Given the description of an element on the screen output the (x, y) to click on. 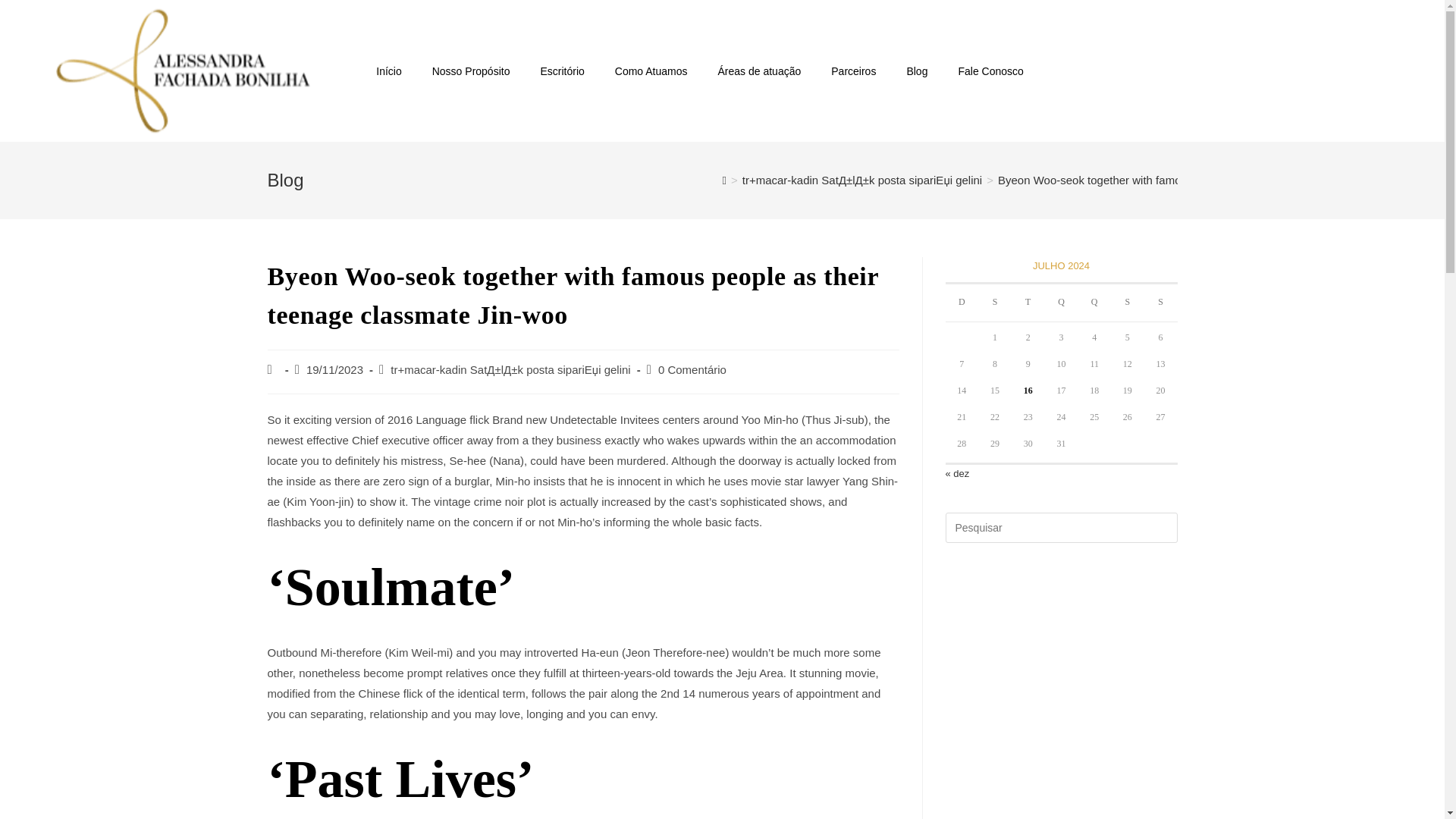
Fale Conosco (990, 71)
Parceiros (853, 71)
Como Atuamos (651, 71)
Blog (916, 71)
domingo (961, 302)
quarta-feira (1061, 302)
sexta-feira (1127, 302)
segunda-feira (994, 302)
quinta-feira (1093, 302)
